Given the description of an element on the screen output the (x, y) to click on. 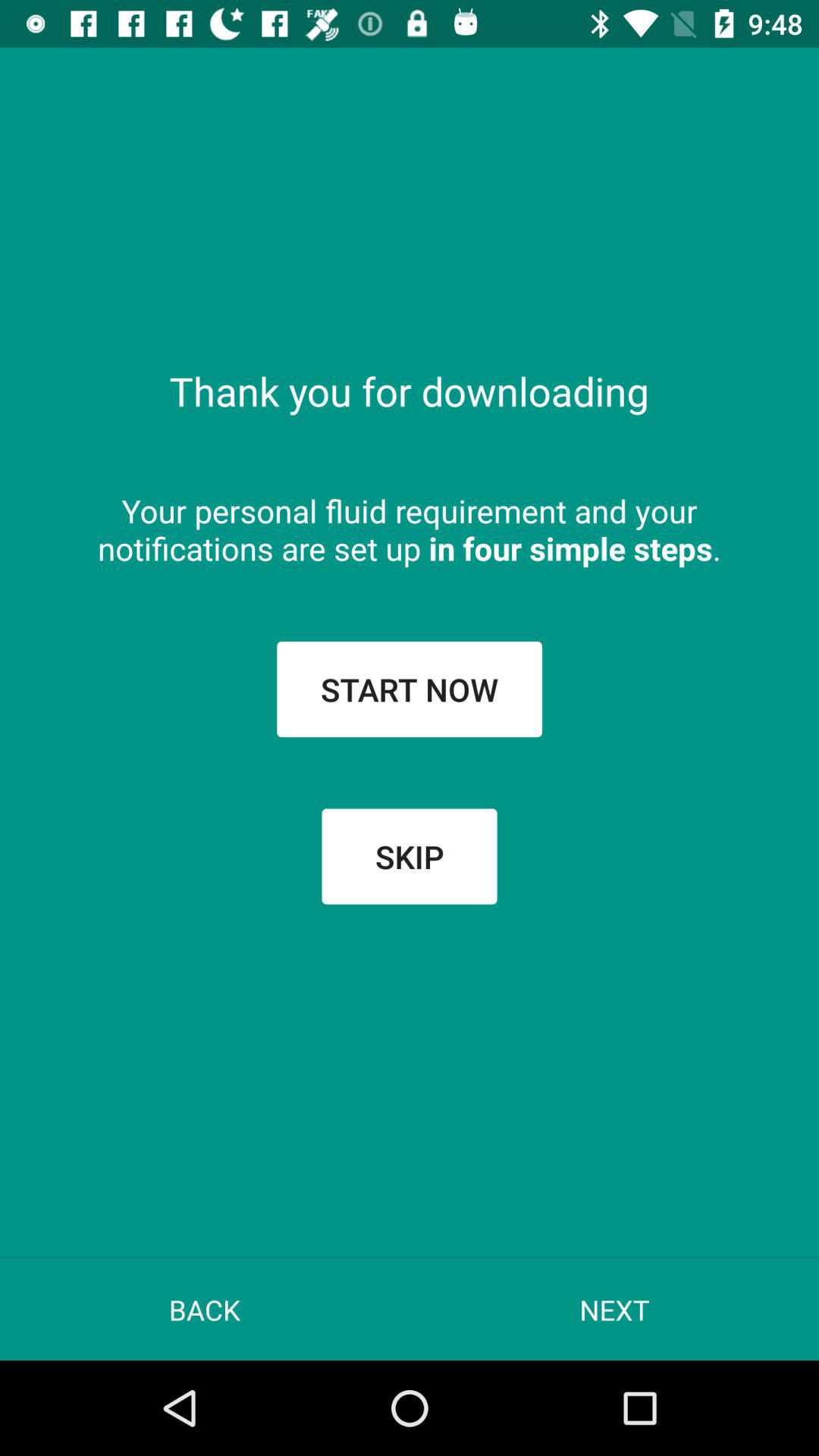
choose app next to the next item (204, 1309)
